Given the description of an element on the screen output the (x, y) to click on. 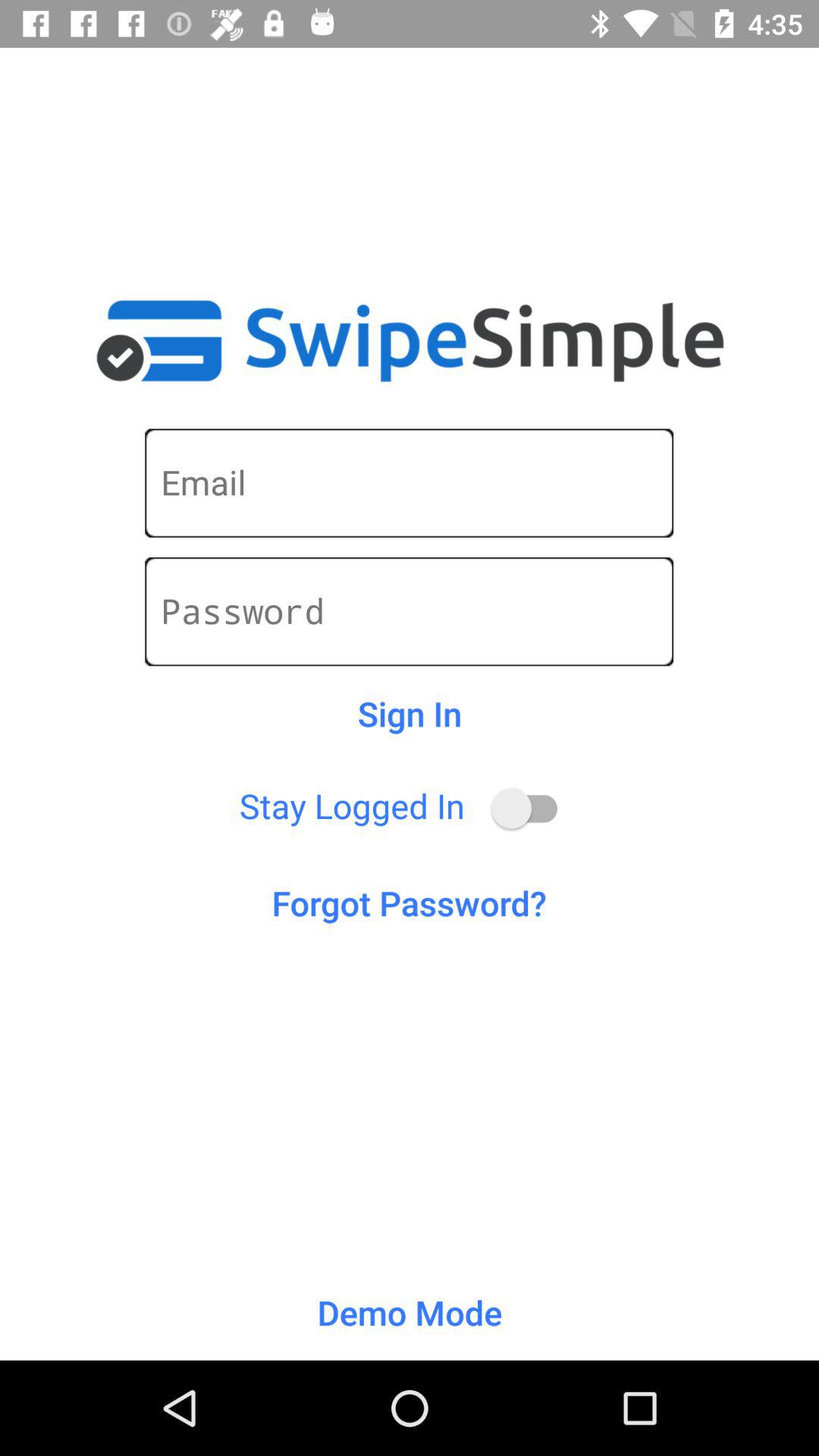
add your email to login (409, 482)
